Given the description of an element on the screen output the (x, y) to click on. 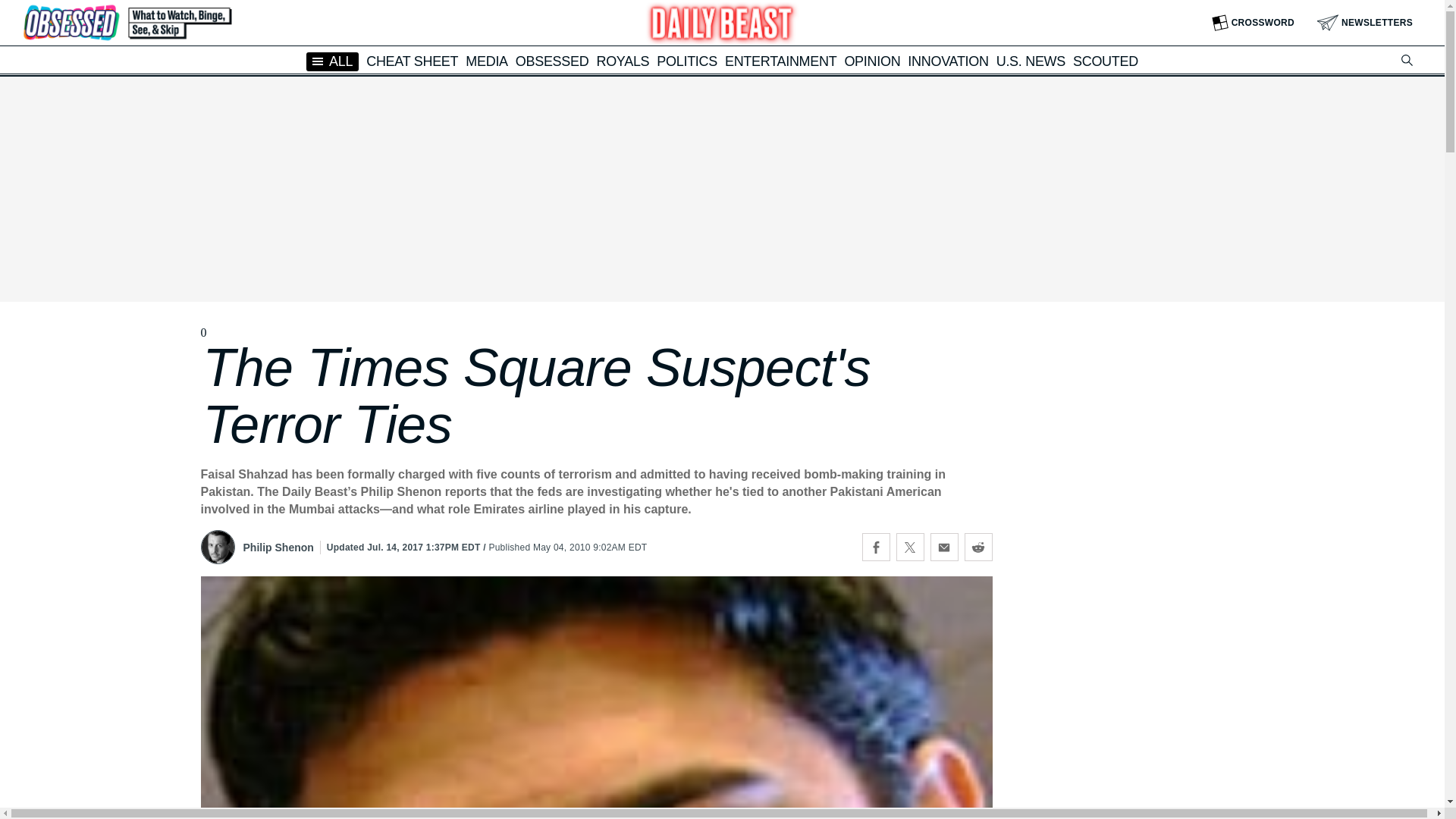
ENTERTAINMENT (780, 60)
CROSSWORD (1252, 22)
POLITICS (686, 60)
ALL (331, 60)
U.S. NEWS (1030, 60)
INNOVATION (947, 60)
MEDIA (486, 60)
OPINION (871, 60)
ROYALS (622, 60)
NEWSLETTERS (1364, 22)
SCOUTED (1105, 60)
CHEAT SHEET (412, 60)
OBSESSED (552, 60)
